Given the description of an element on the screen output the (x, y) to click on. 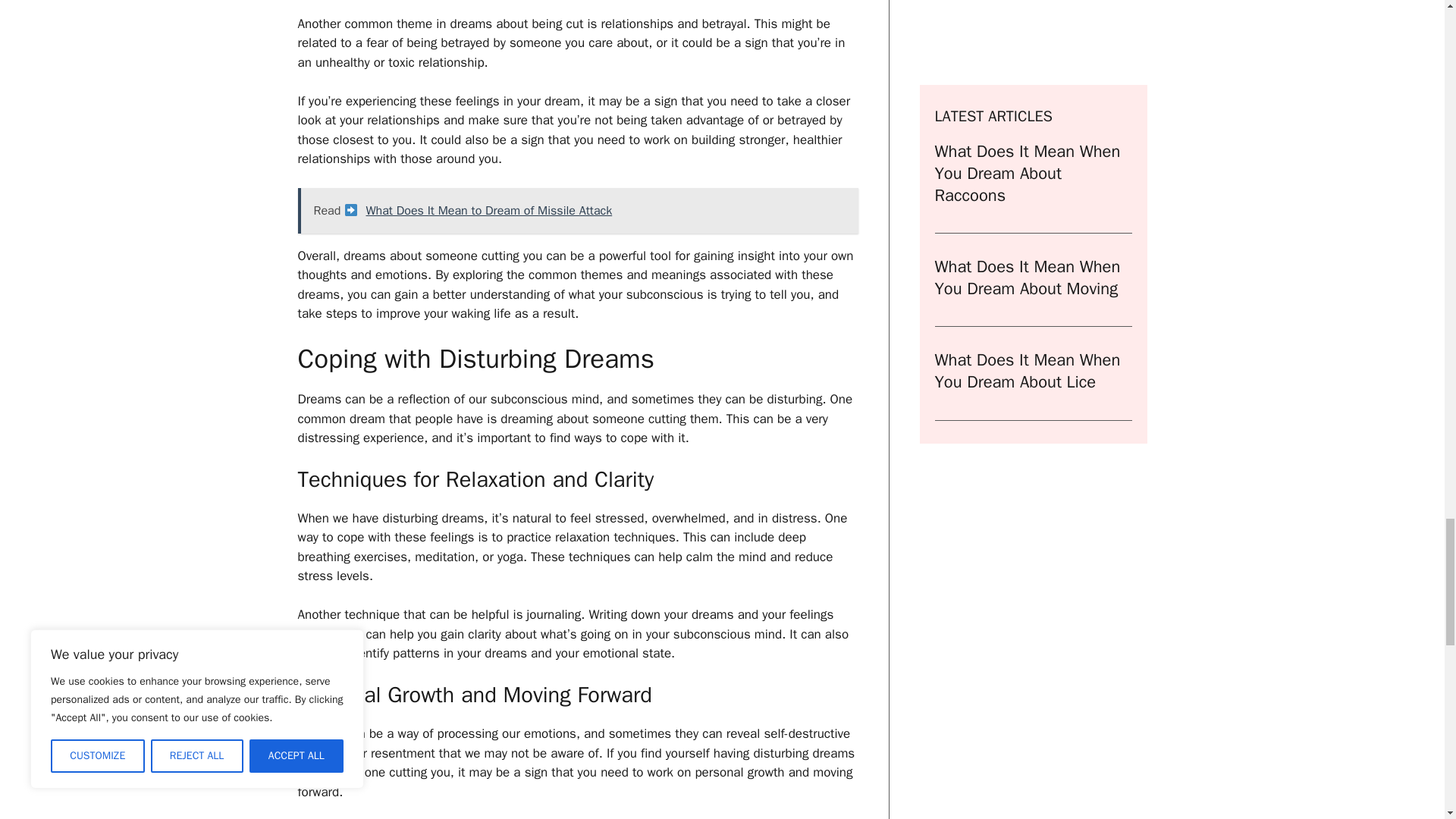
Read   What Does It Mean to Dream of Missile Attack (577, 210)
